Given the description of an element on the screen output the (x, y) to click on. 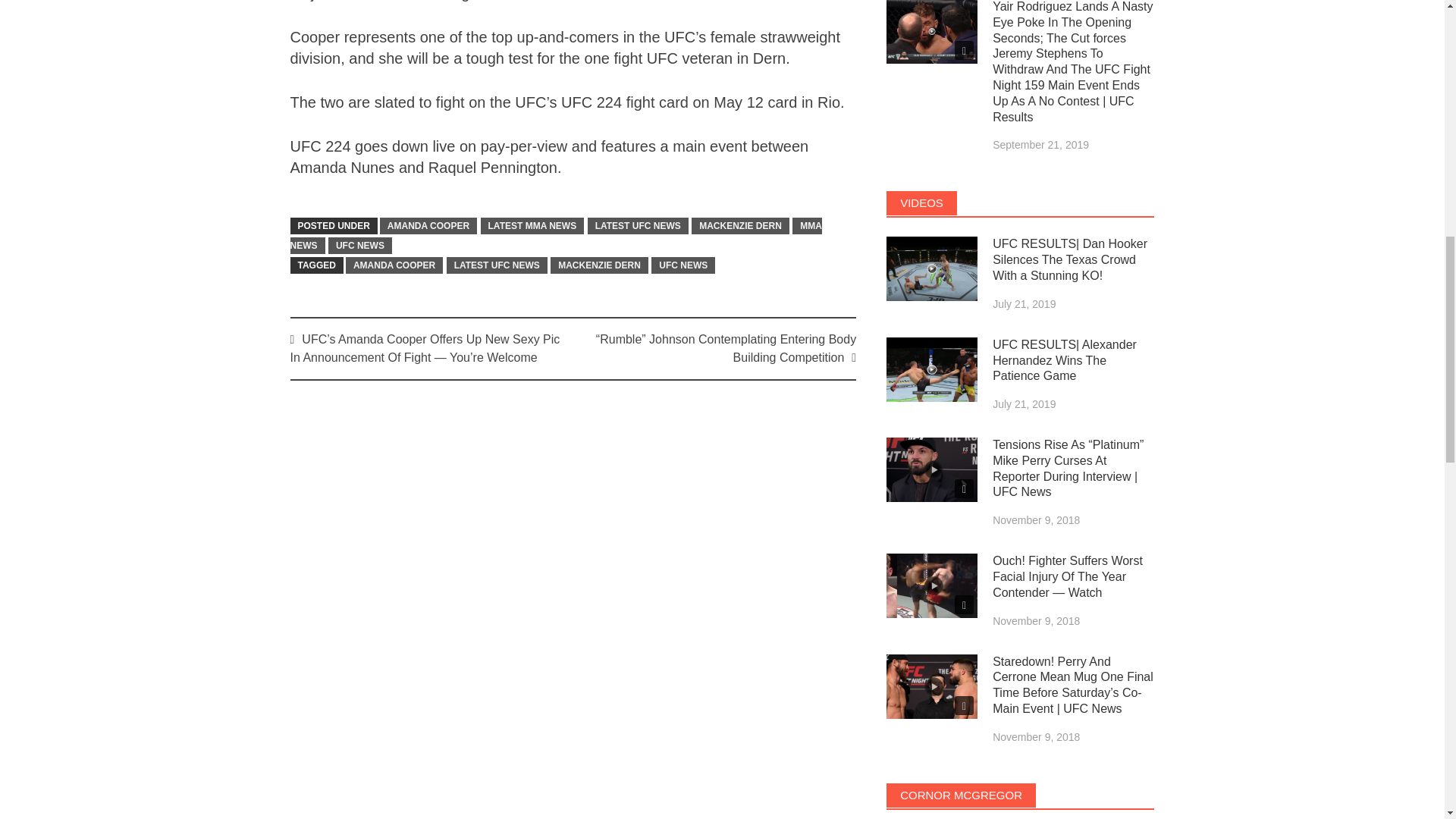
MMA NEWS (555, 235)
LATEST UFC NEWS (638, 225)
UFC NEWS (360, 245)
MACKENZIE DERN (740, 225)
LATEST MMA NEWS (532, 225)
LATEST UFC NEWS (496, 265)
MACKENZIE DERN (598, 265)
AMANDA COOPER (394, 265)
UFC NEWS (682, 265)
AMANDA COOPER (428, 225)
